Given the description of an element on the screen output the (x, y) to click on. 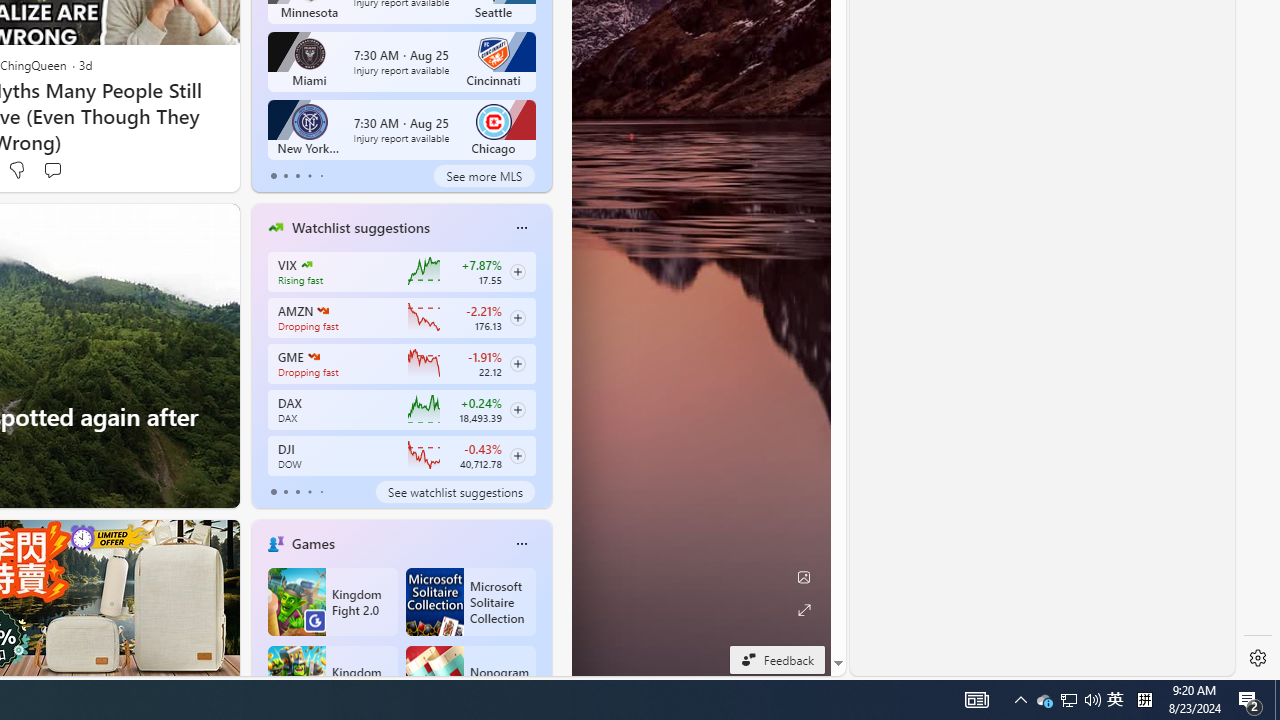
Q2790: 100% (1092, 699)
Tray Input Indicator - Chinese (Simplified, China) (1144, 699)
tab-4 (320, 491)
See watchlist suggestions (454, 491)
Expand background (803, 610)
Action Center, 2 new notifications (1250, 699)
Microsoft Solitaire Collection (470, 601)
Games (312, 543)
Edit Background (803, 577)
User Promoted Notification Area (1068, 699)
